Given the description of an element on the screen output the (x, y) to click on. 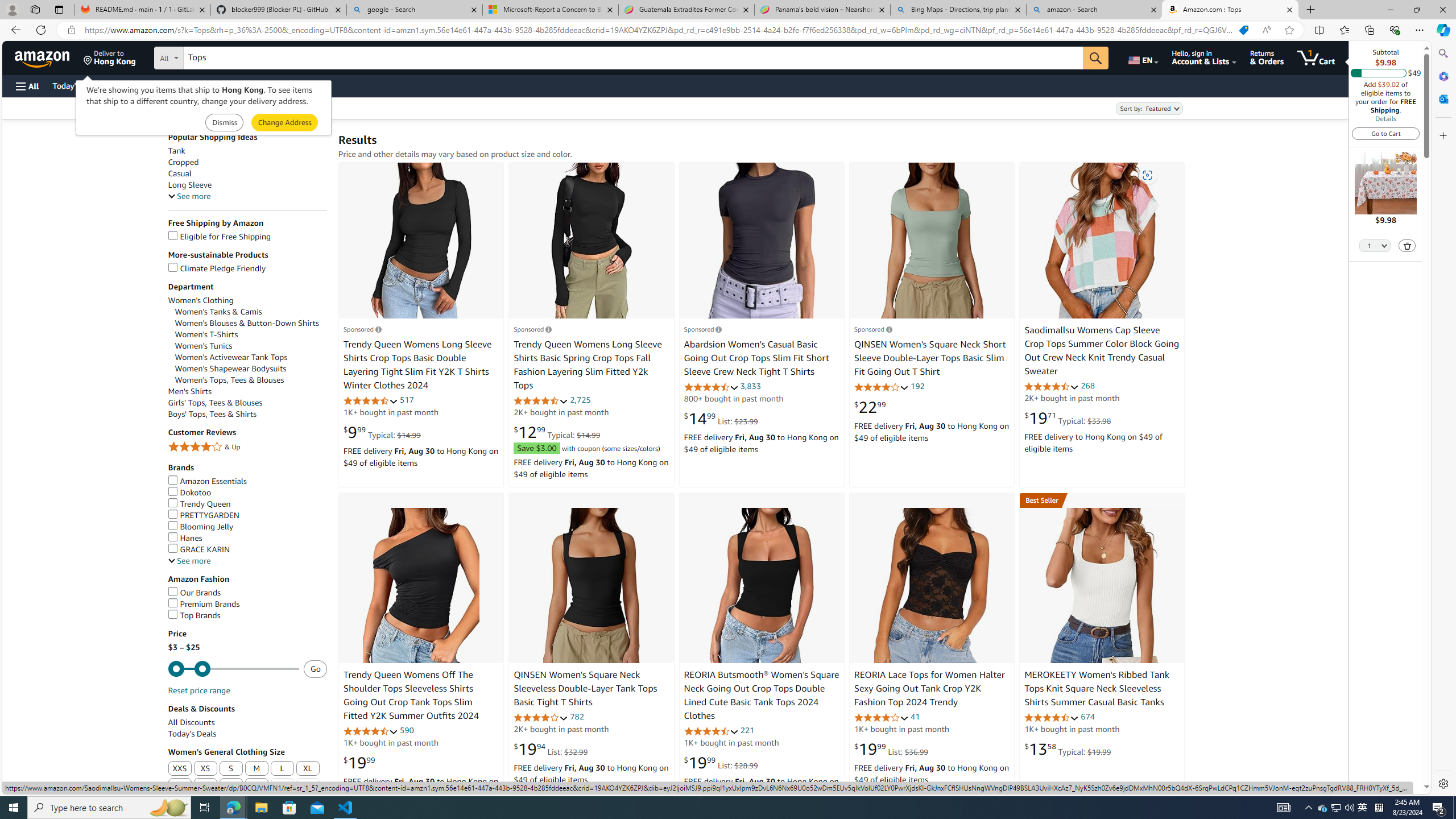
4XL (231, 786)
Choose a language for shopping. (1142, 57)
Hanes (247, 537)
S (230, 768)
Registry (205, 85)
Women's T-Shirts (250, 334)
Long Sleeve (247, 185)
